Given the description of an element on the screen output the (x, y) to click on. 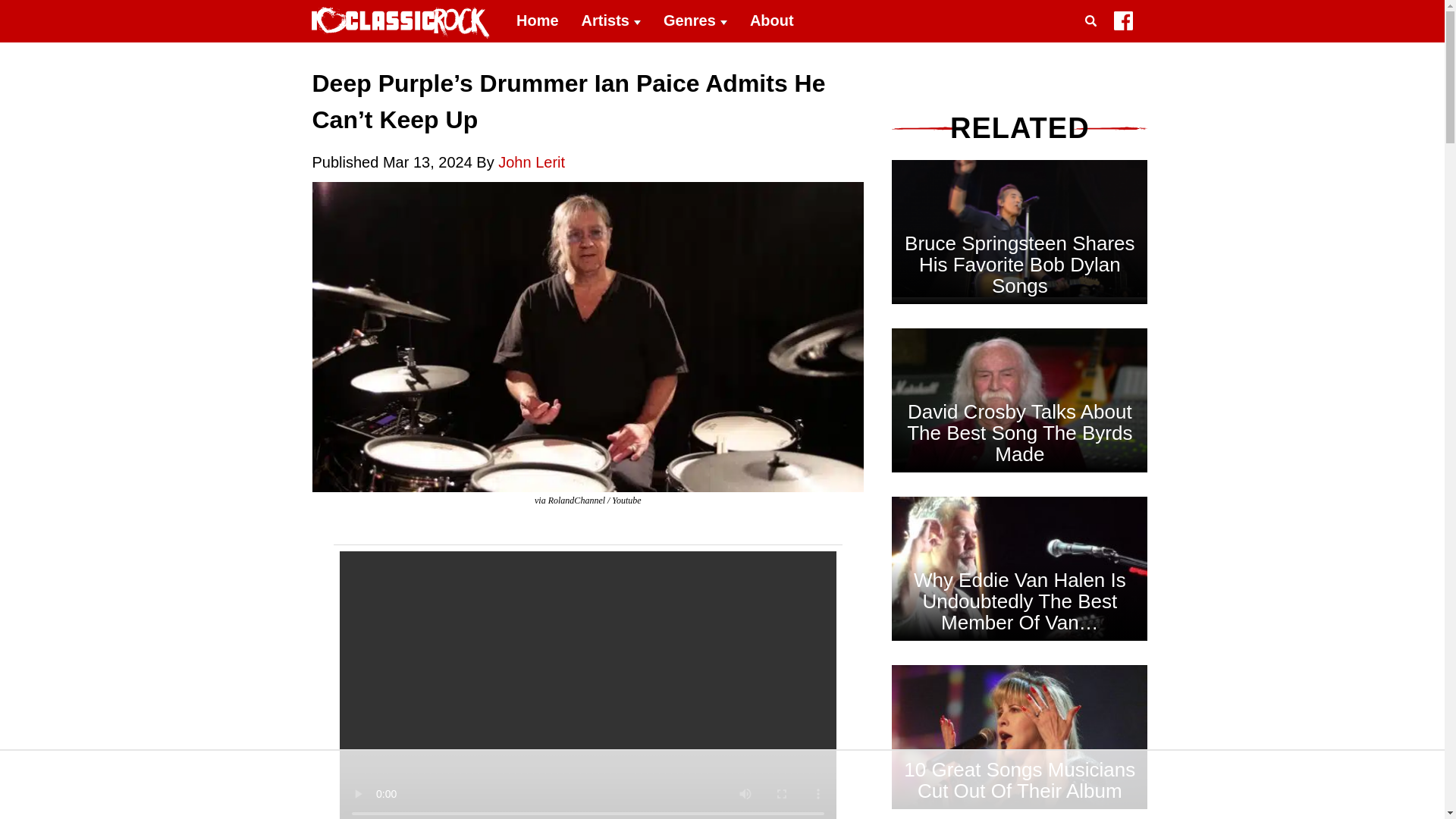
Search (1093, 39)
About (771, 21)
Genres (695, 21)
Artists (611, 21)
Search (1093, 39)
Home (537, 21)
I Love Classic Rock on Facebook (1122, 24)
